Given the description of an element on the screen output the (x, y) to click on. 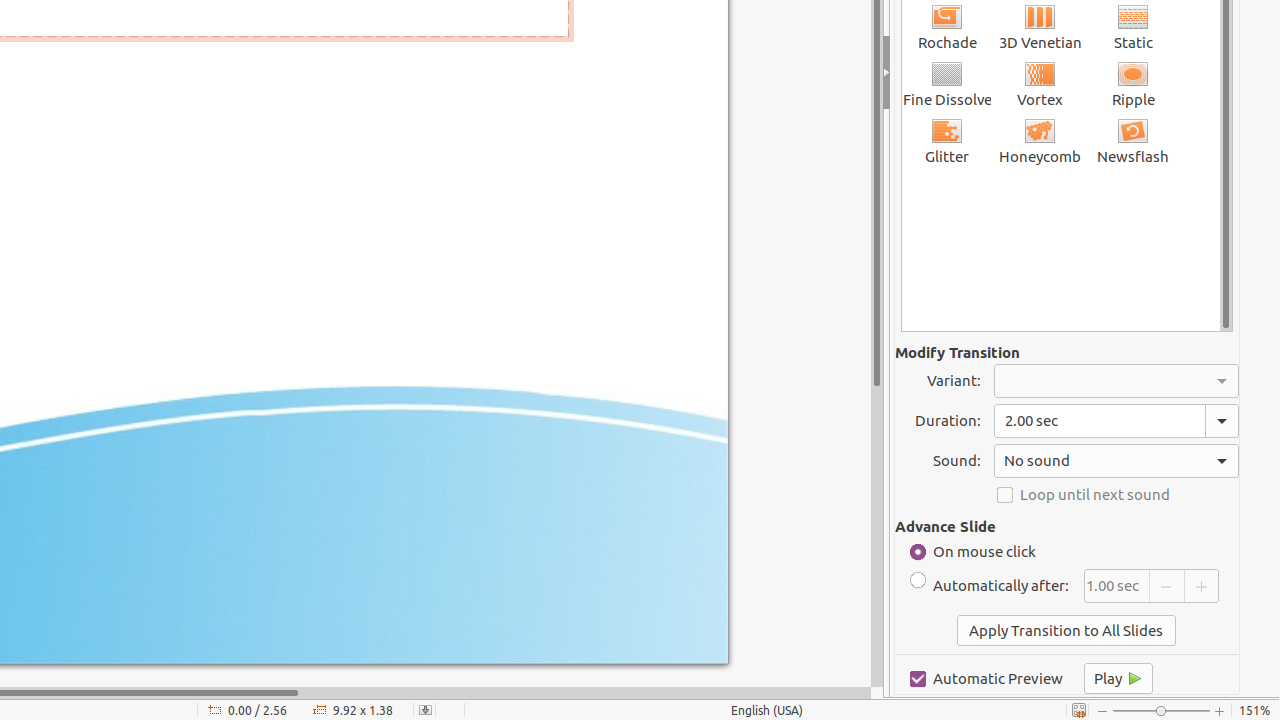
Variant: Element type: combo-box (1116, 381)
Apply Transition to All Slides Element type: push-button (1066, 630)
Vortex Element type: list-item (1040, 83)
Glitter Element type: list-item (947, 140)
Automatic Preview Element type: check-box (986, 678)
